Given the description of an element on the screen output the (x, y) to click on. 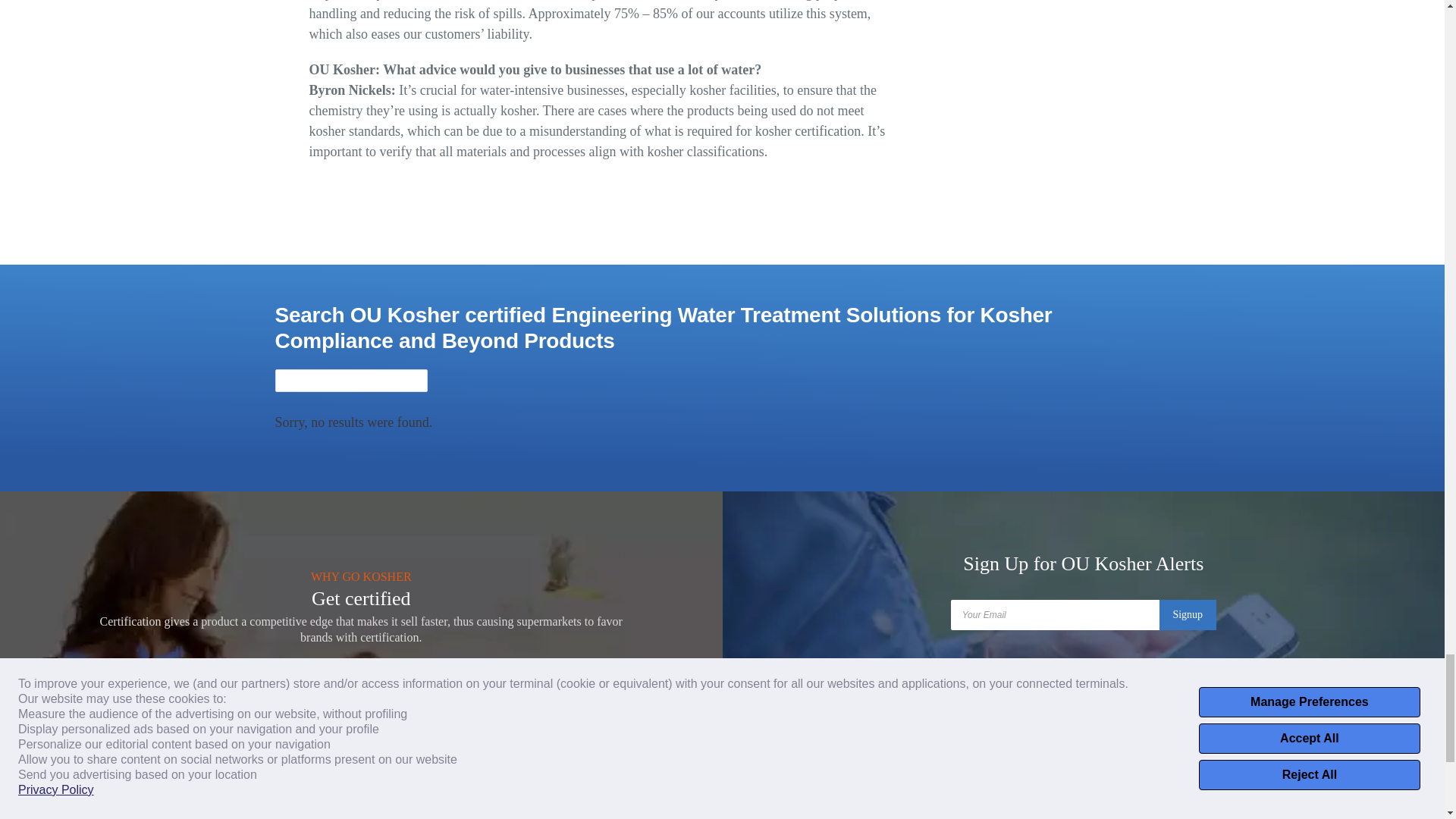
OU Kosher (413, 815)
